Given the description of an element on the screen output the (x, y) to click on. 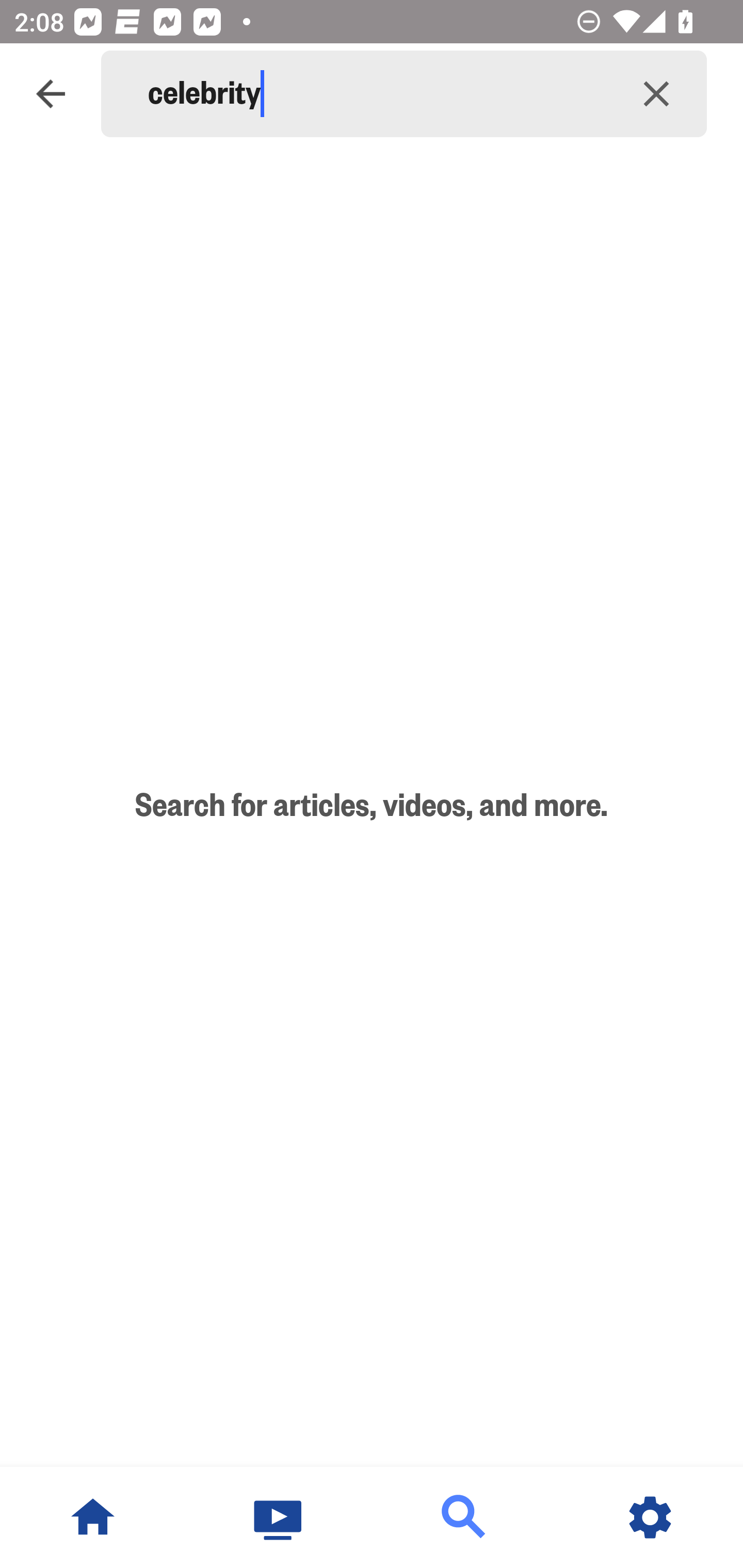
Navigate up (50, 93)
Clear query (656, 93)
celebrity (376, 94)
NBC News Home (92, 1517)
Watch (278, 1517)
Settings (650, 1517)
